Given the description of an element on the screen output the (x, y) to click on. 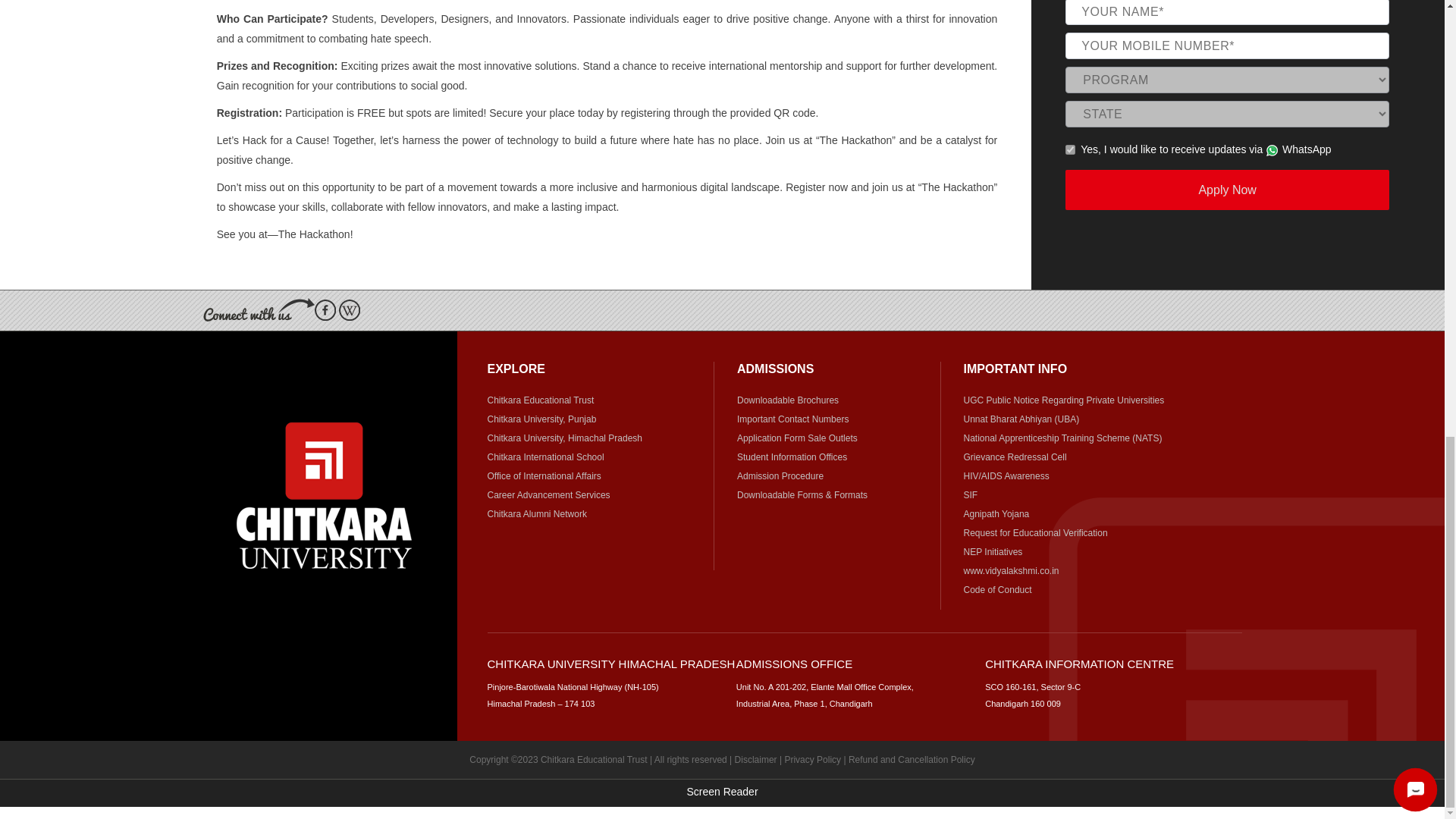
Apply Now (1227, 189)
1 (1070, 149)
Chitkara University Logo (323, 495)
